Given the description of an element on the screen output the (x, y) to click on. 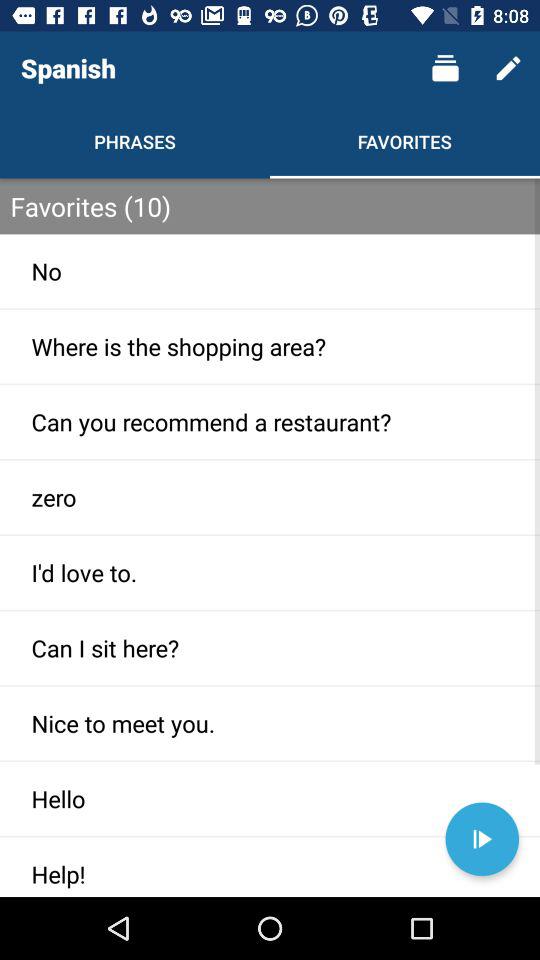
press the item next to the spanish icon (444, 67)
